Given the description of an element on the screen output the (x, y) to click on. 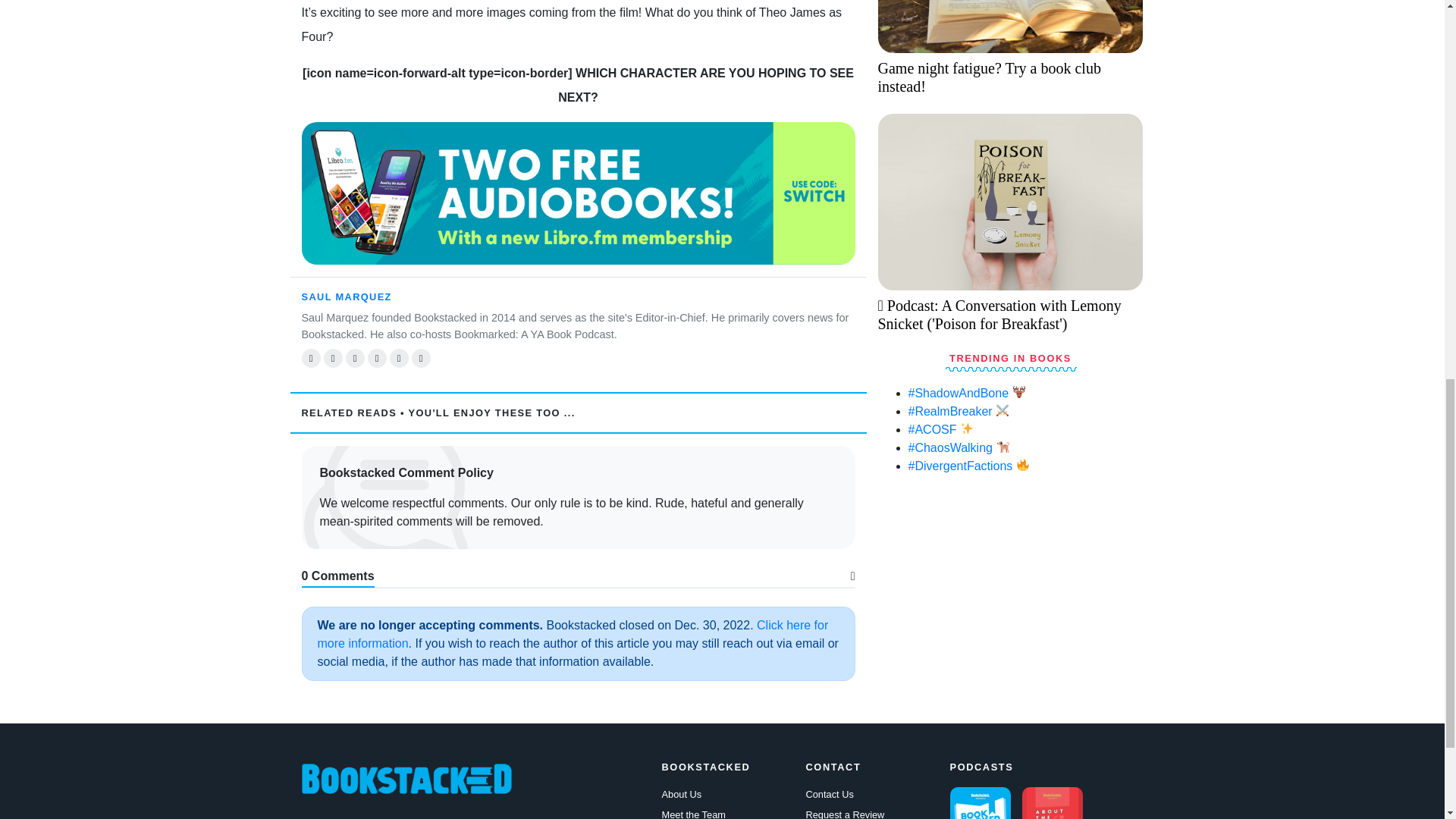
Posts by Saul Marquez (346, 296)
Subscribe to Saul on YouTube (421, 357)
A Conversation with Lemony Snicket (1009, 201)
Follow Saul on Instagram (399, 357)
Email Saul (310, 357)
SAUL MARQUEZ (346, 296)
A Conversation with Lemony Snicket (1009, 365)
Game night fatigue? Try a book club instead! (1009, 127)
